Given the description of an element on the screen output the (x, y) to click on. 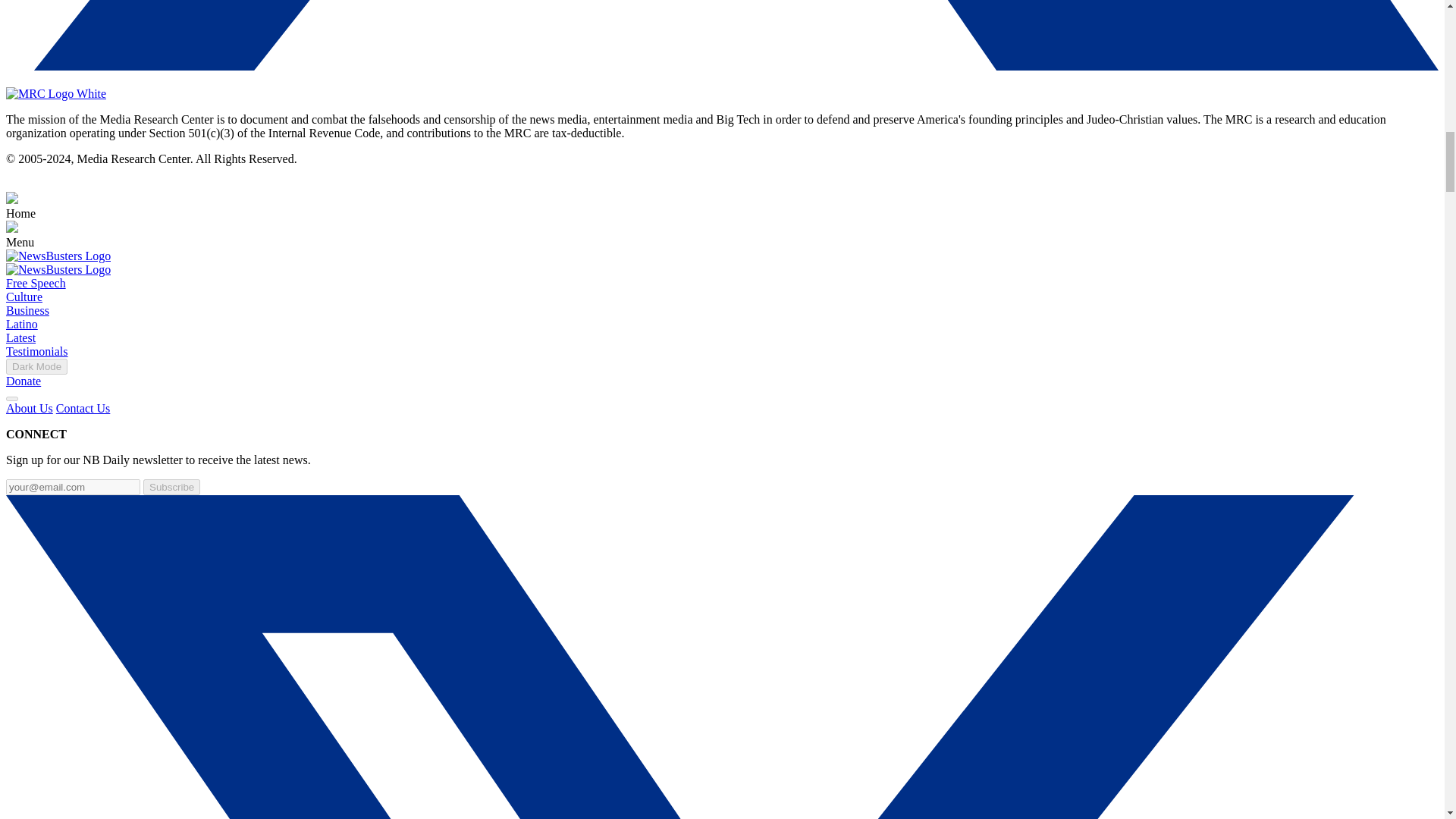
Dark Mode (35, 366)
Subscribe (171, 487)
About Us (28, 408)
Testimonials (36, 350)
Contact Us (83, 408)
Donate (22, 380)
